Given the description of an element on the screen output the (x, y) to click on. 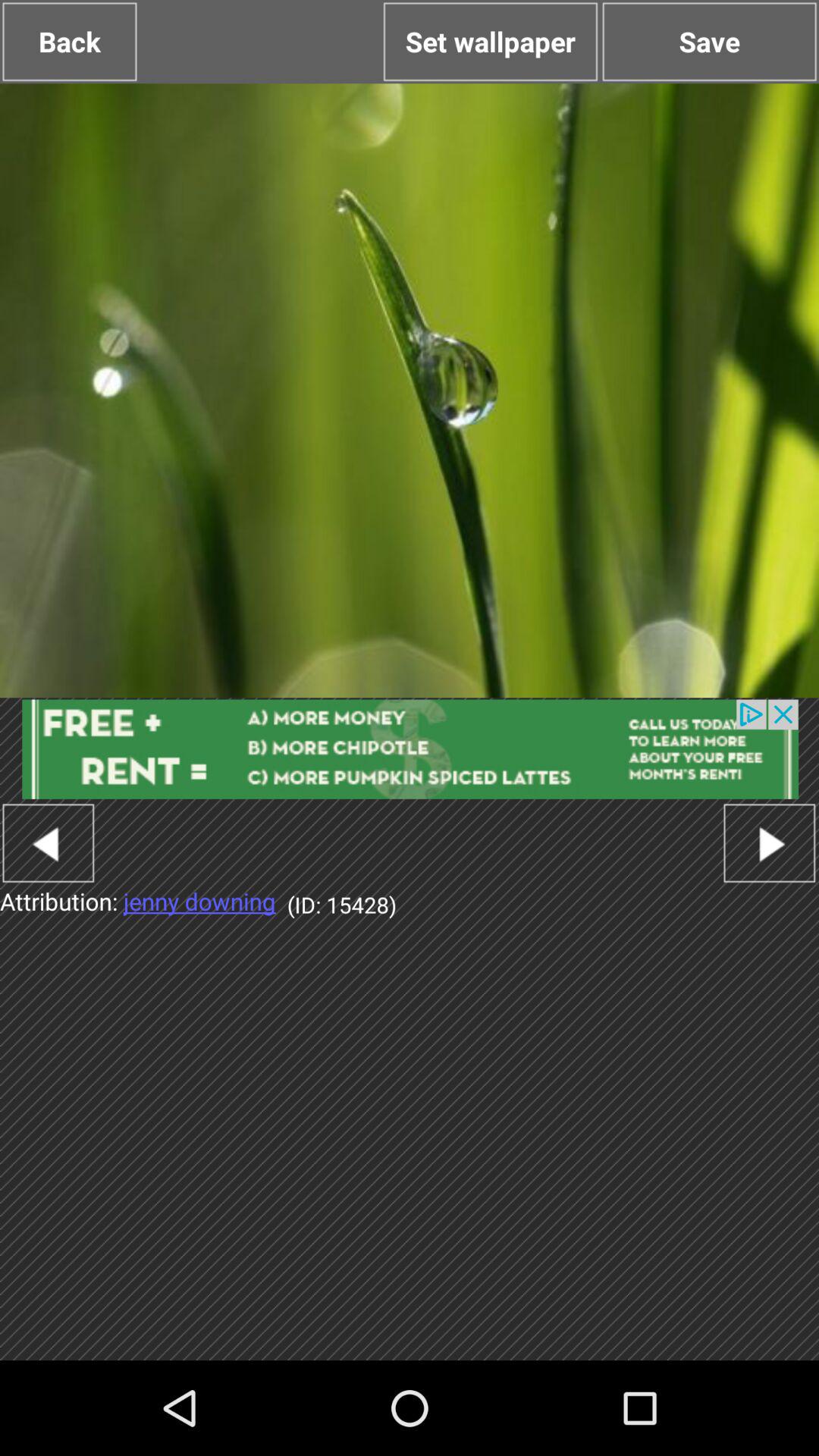
open (409, 749)
